Given the description of an element on the screen output the (x, y) to click on. 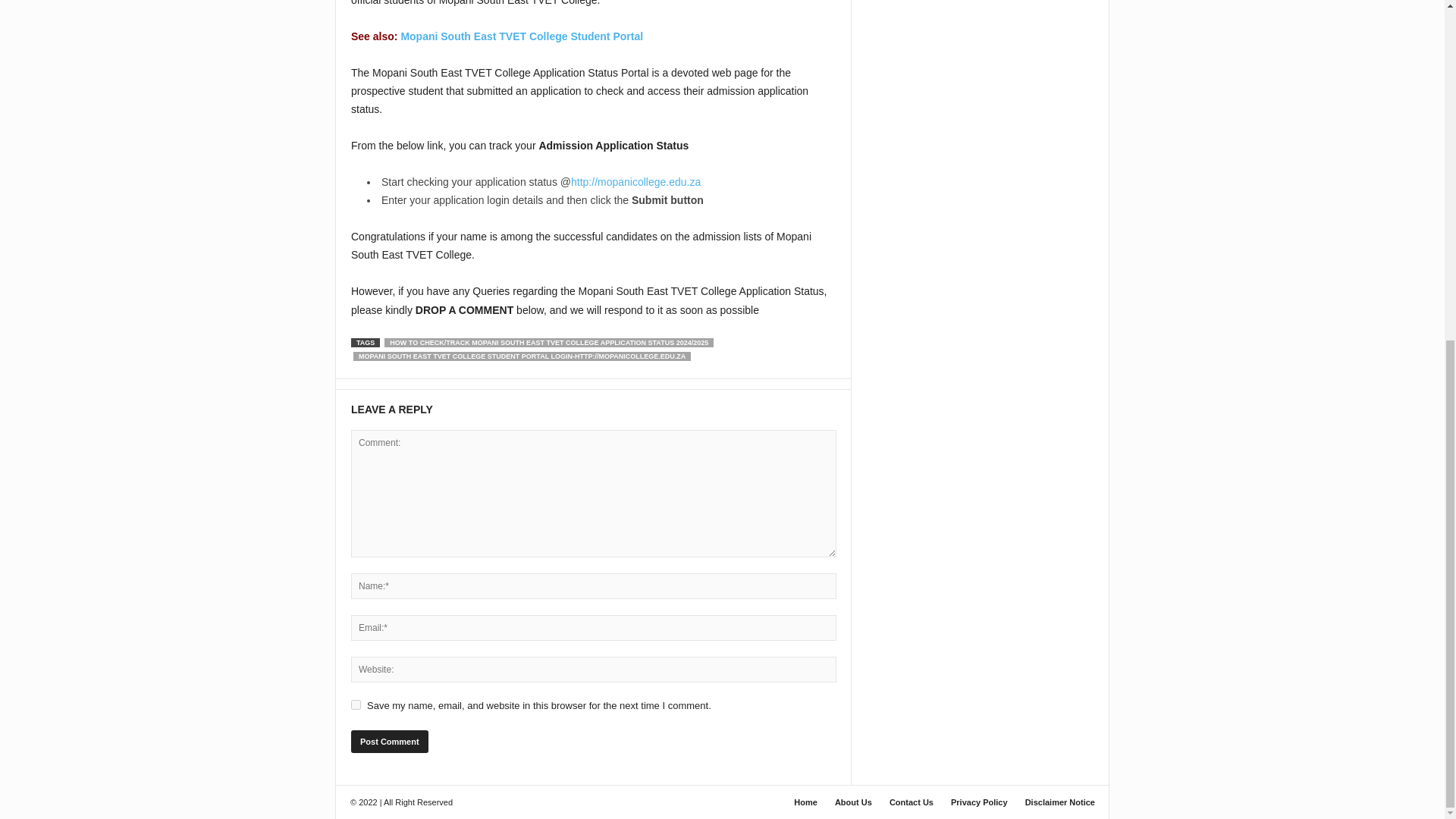
Post Comment (389, 741)
yes (355, 705)
Post Comment (389, 741)
Contact Us (911, 801)
Mopani South East TVET College Student Portal (521, 36)
About Us (853, 801)
Home (805, 801)
Privacy Policy (978, 801)
Disclaimer Notice (1055, 801)
